Given the description of an element on the screen output the (x, y) to click on. 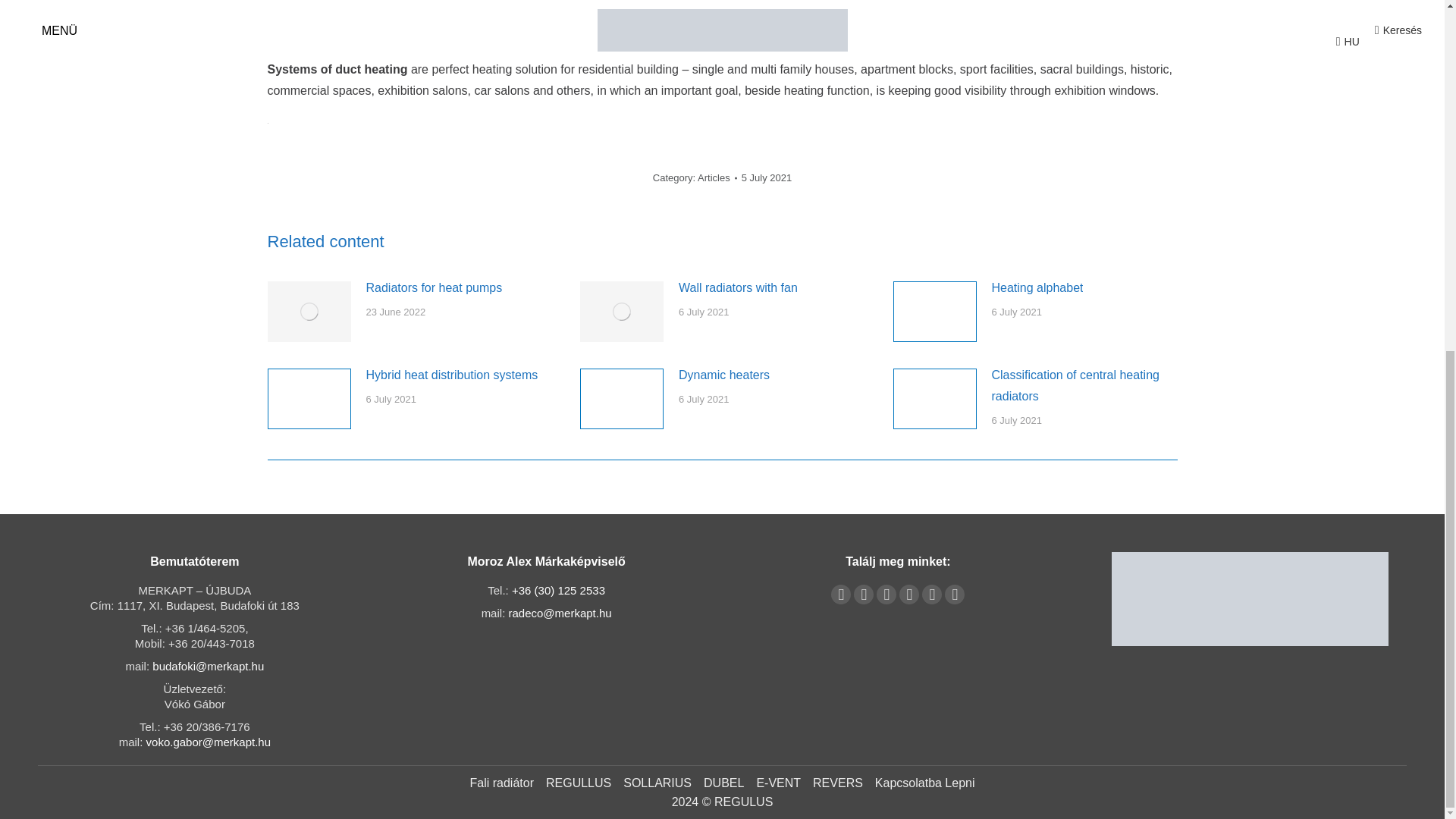
Hybrid heat distribution systems (451, 374)
14:59 (766, 177)
Articles (713, 177)
Whatsapp page opens in new window (953, 594)
YouTube page opens in new window (863, 594)
Mail page opens in new window (931, 594)
Heating alphabet (1037, 287)
Pinterest page opens in new window (886, 594)
Facebook page opens in new window (840, 594)
5 July 2021 (766, 177)
